Given the description of an element on the screen output the (x, y) to click on. 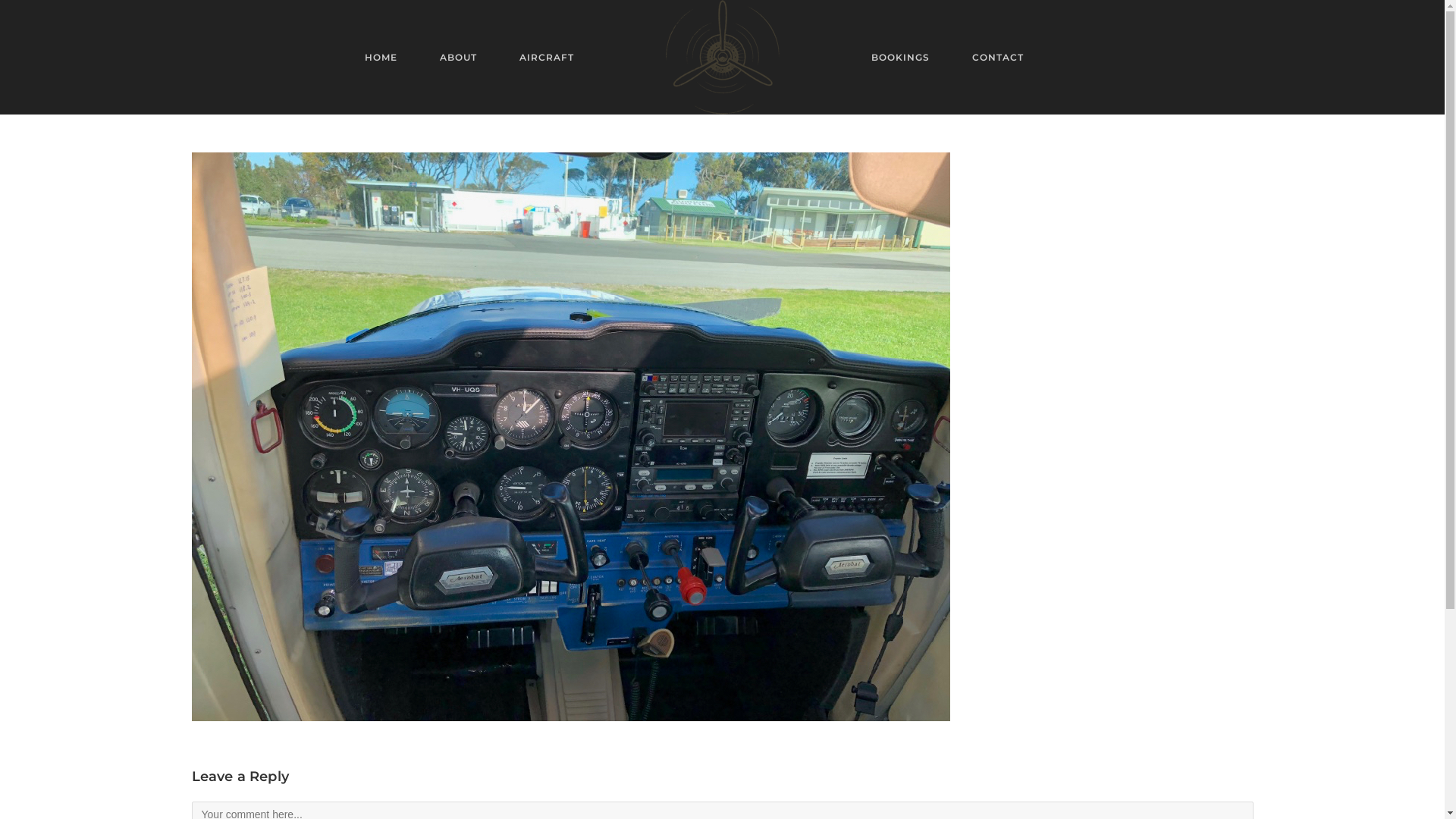
BOOKINGS Element type: text (899, 57)
HOME Element type: text (379, 57)
AIRCRAFT Element type: text (545, 57)
ABOUT Element type: text (458, 57)
CONTACT Element type: text (997, 57)
